Given the description of an element on the screen output the (x, y) to click on. 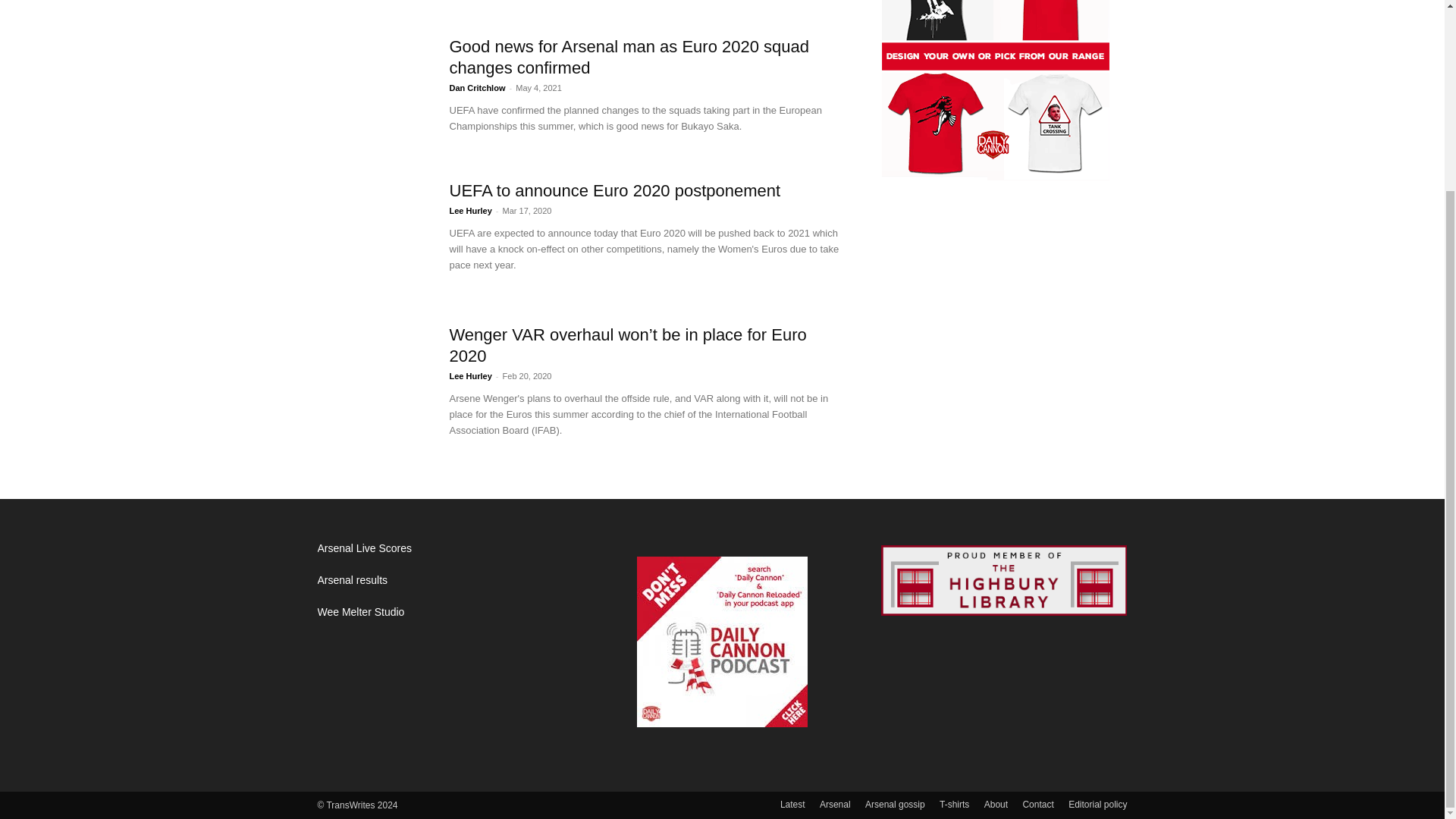
UEFA to announce Euro 2020 postponement (373, 237)
Free Euro 2020 printable wallchart (373, 2)
UEFA to announce Euro 2020 postponement (614, 189)
